Given the description of an element on the screen output the (x, y) to click on. 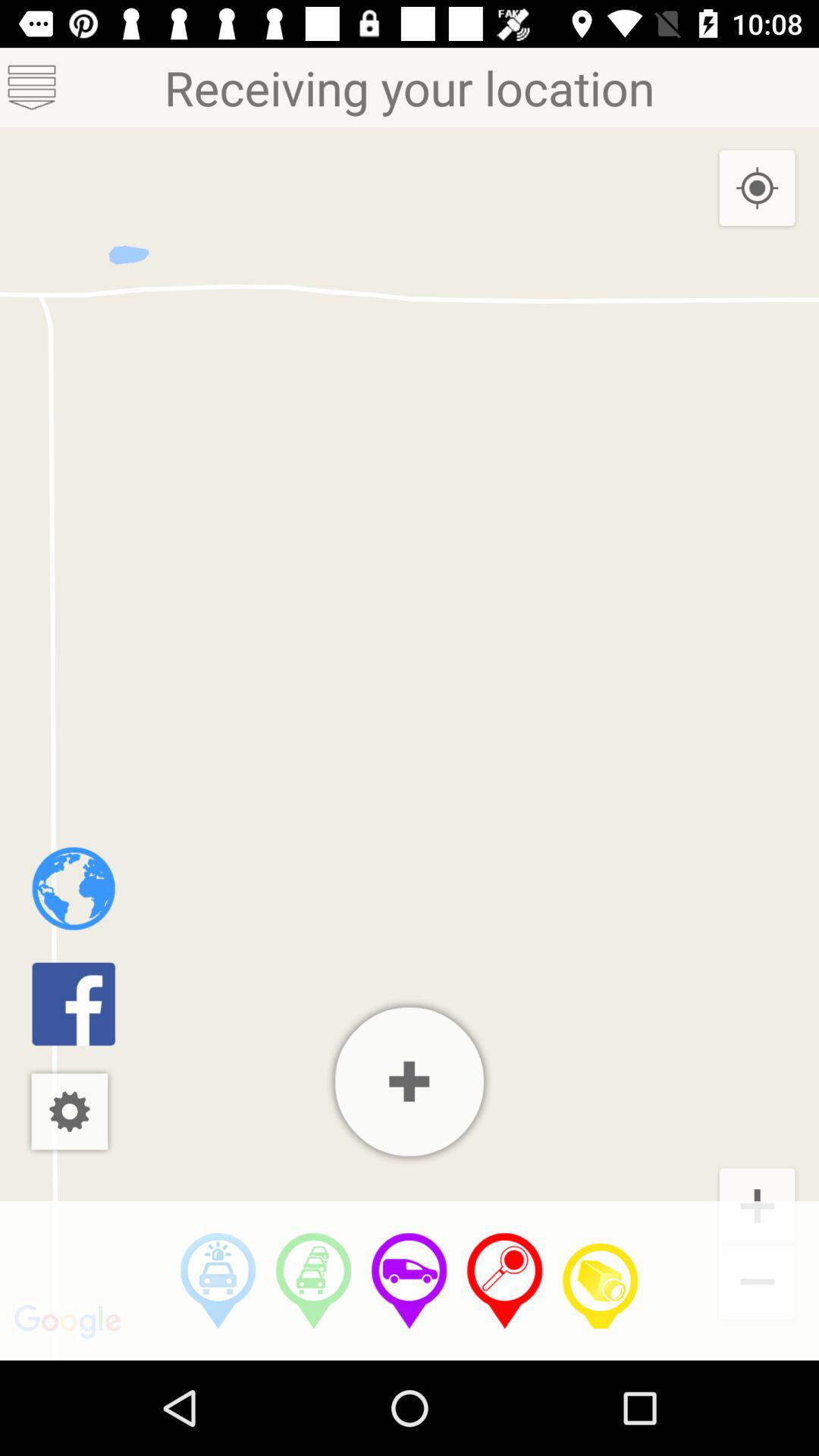
settings (69, 1111)
